Given the description of an element on the screen output the (x, y) to click on. 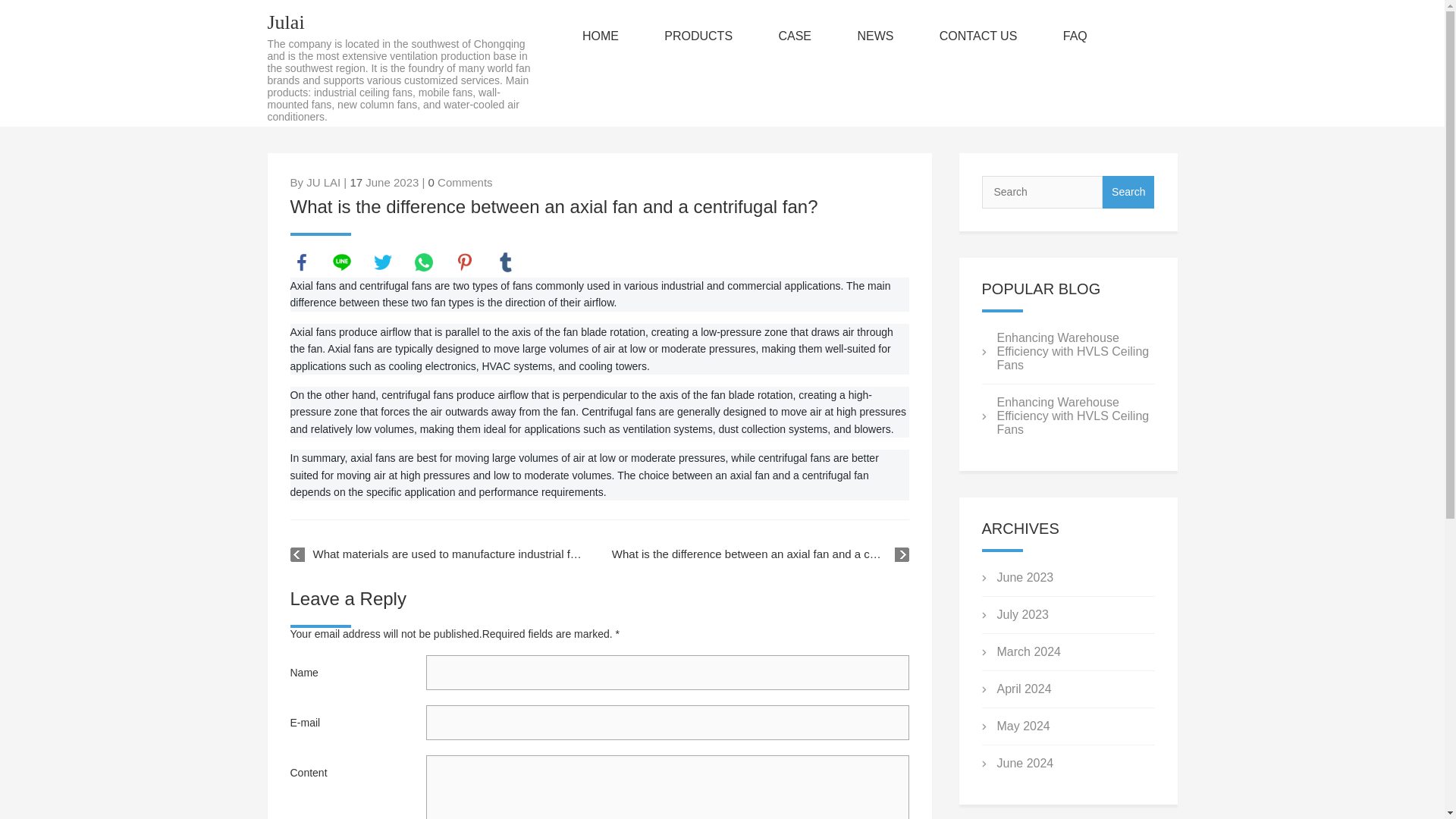
What materials are used to manufacture industrial fans? (437, 553)
line (341, 261)
Enhancing Warehouse Efficiency with HVLS Ceiling Fans (1071, 351)
Search (1128, 192)
What materials are used to manufacture industrial fans? (437, 553)
April 2024 (1023, 688)
PRODUCTS (698, 36)
twitter (382, 261)
whatsapp (423, 261)
pinterest (464, 261)
June 2023 (1023, 576)
CONTACT US (979, 36)
March 2024 (1028, 651)
